Given the description of an element on the screen output the (x, y) to click on. 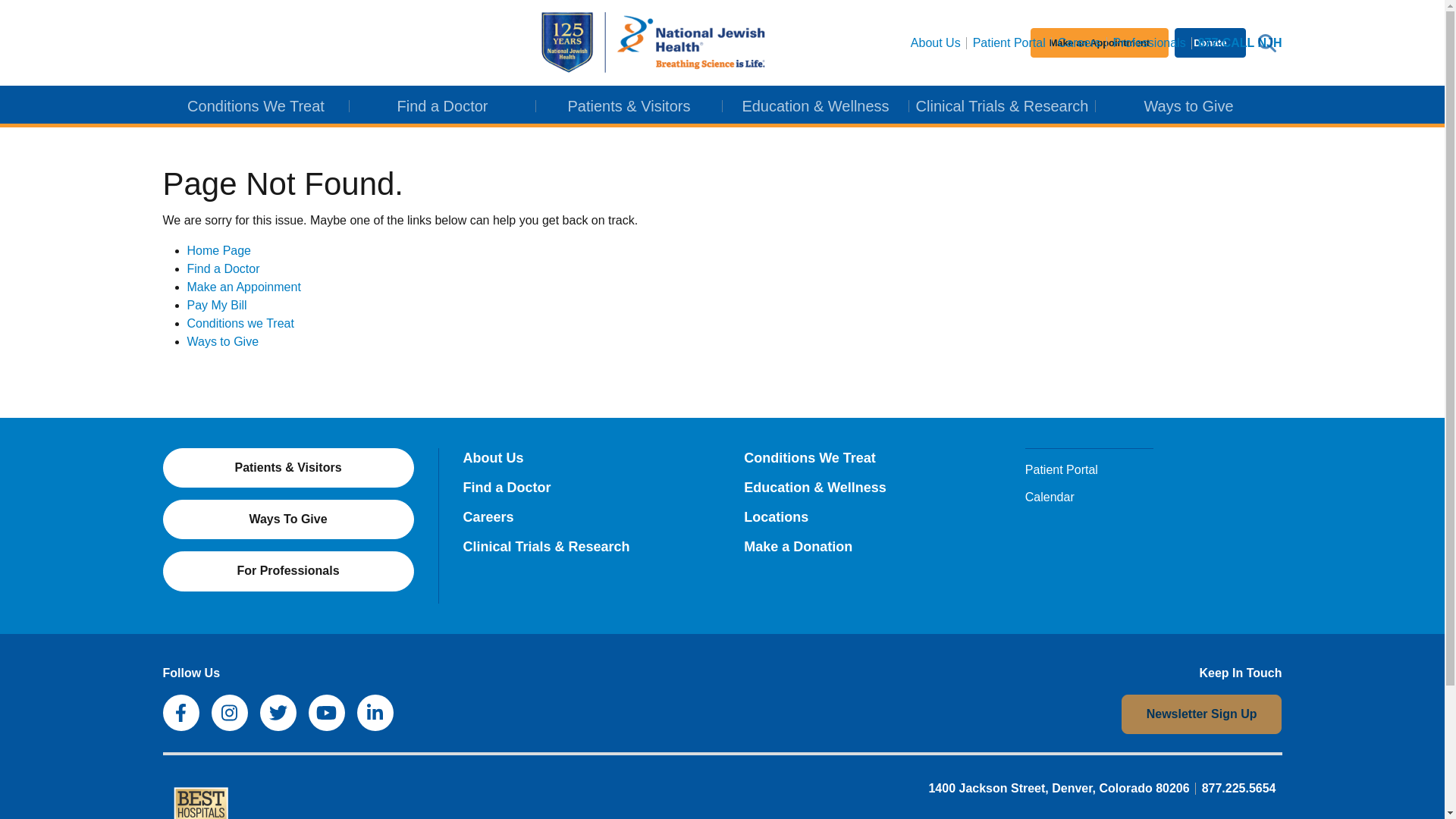
Make an Appointment (1099, 41)
Careers (1078, 42)
Find a Doctor (442, 105)
About Us (935, 42)
Patient Portal (1008, 42)
Professionals (1149, 42)
Conditions We Treat (255, 105)
877-CALL NJH (1237, 42)
Donate (1209, 41)
